Given the description of an element on the screen output the (x, y) to click on. 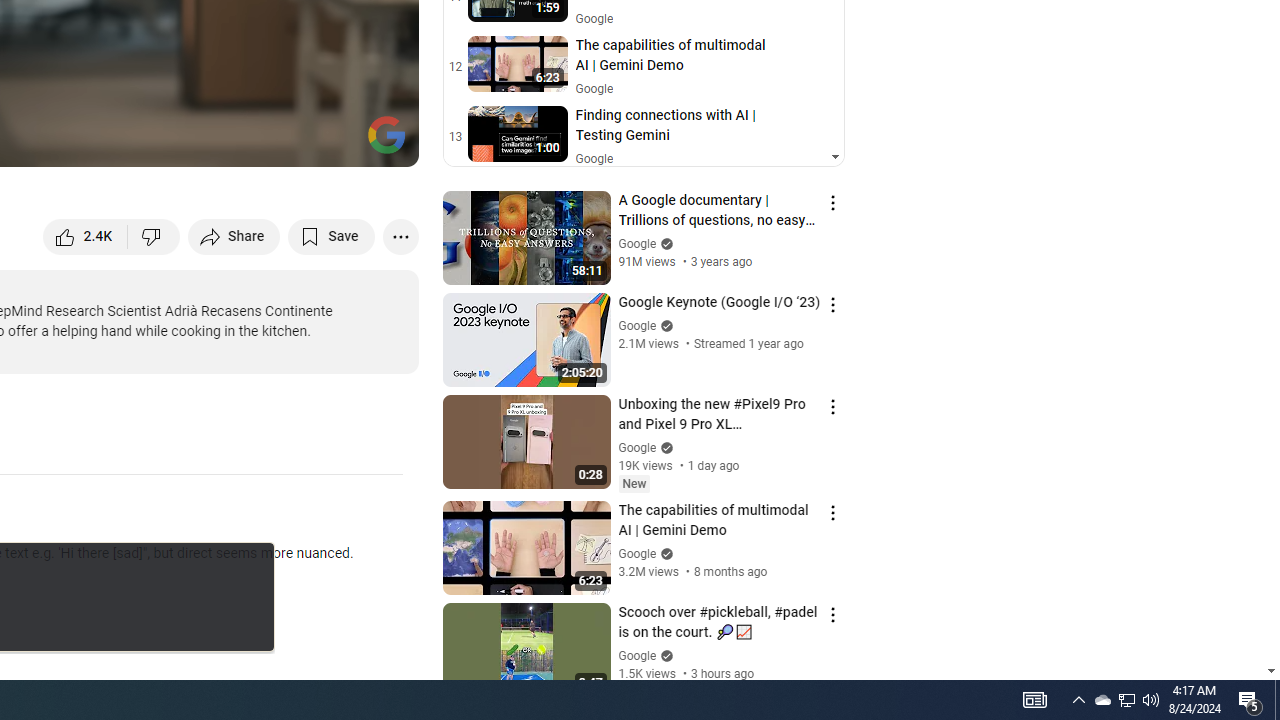
New (634, 484)
Channel watermark (386, 134)
Share (234, 236)
Miniplayer (i) (286, 142)
Save to playlist (331, 236)
Theater mode (t) (333, 142)
Action menu (832, 615)
Dislike this video (154, 236)
